Given the description of an element on the screen output the (x, y) to click on. 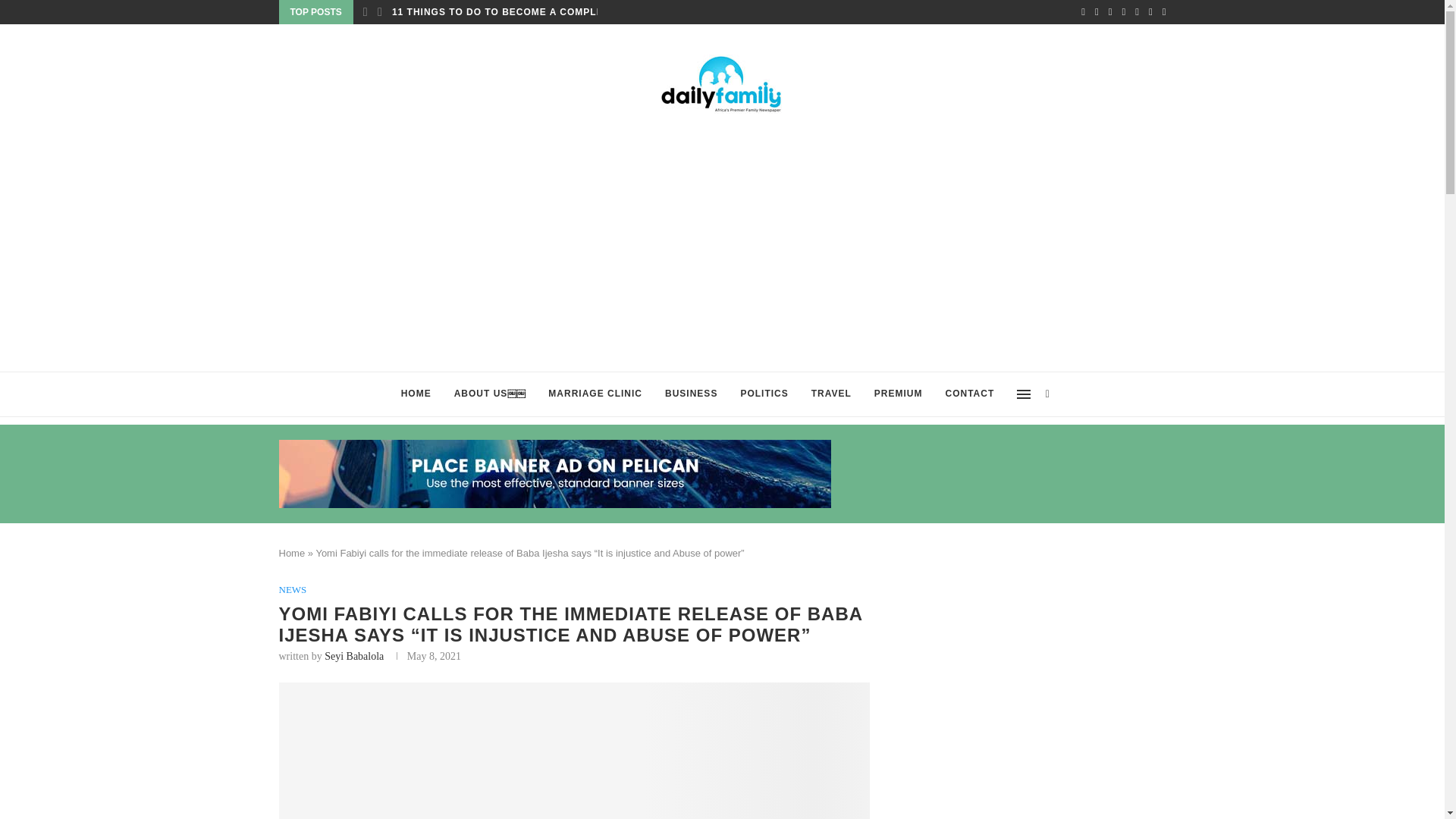
PREMIUM (898, 393)
CONTACT (970, 393)
11 THINGS TO DO TO BECOME A COMPLETE... (508, 12)
Home (292, 552)
